Given the description of an element on the screen output the (x, y) to click on. 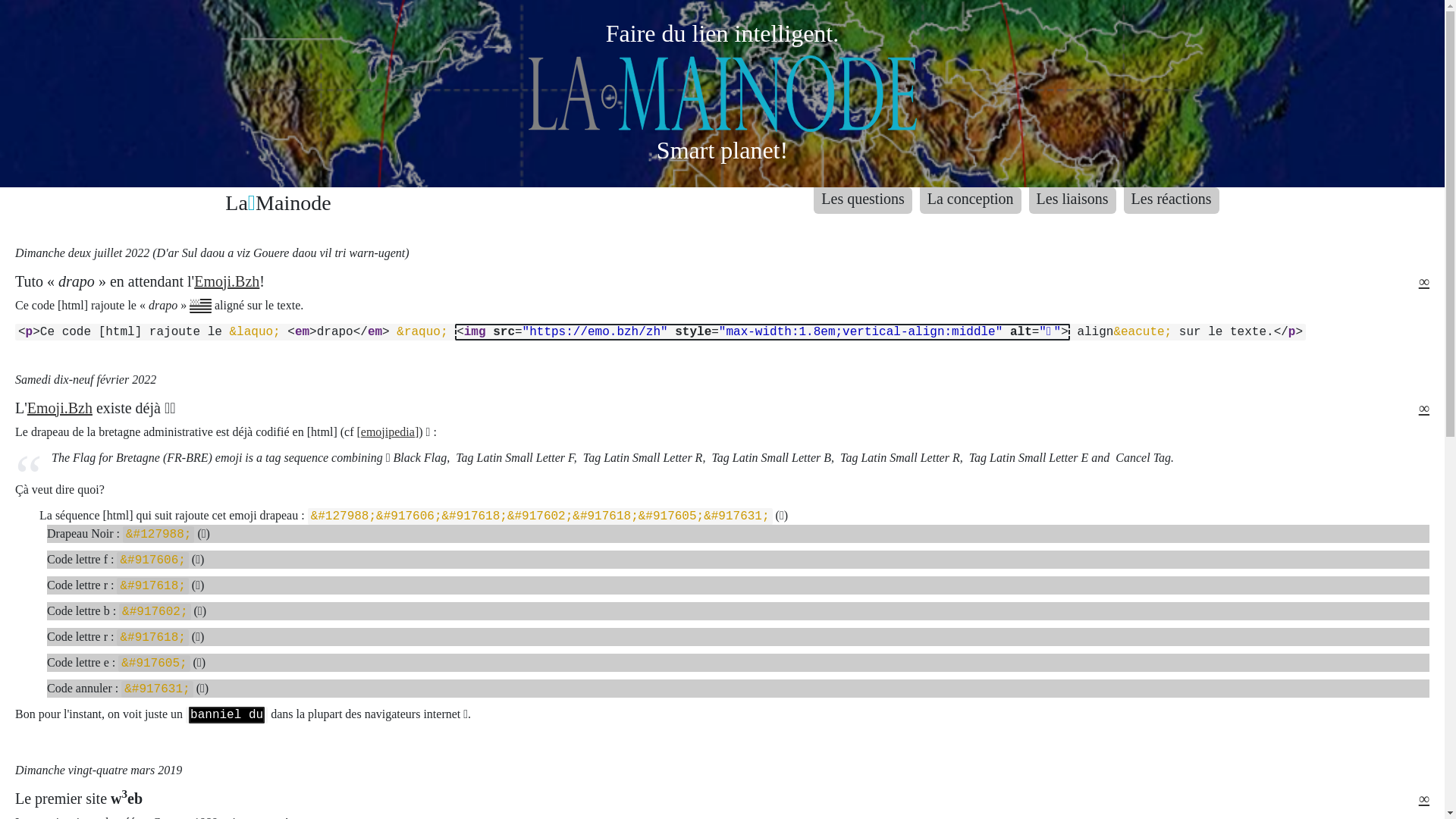
[emojipedia] Element type: text (387, 431)
Emoji.Bzh Element type: text (59, 407)
Emoji.Bzh Element type: text (226, 281)
